Given the description of an element on the screen output the (x, y) to click on. 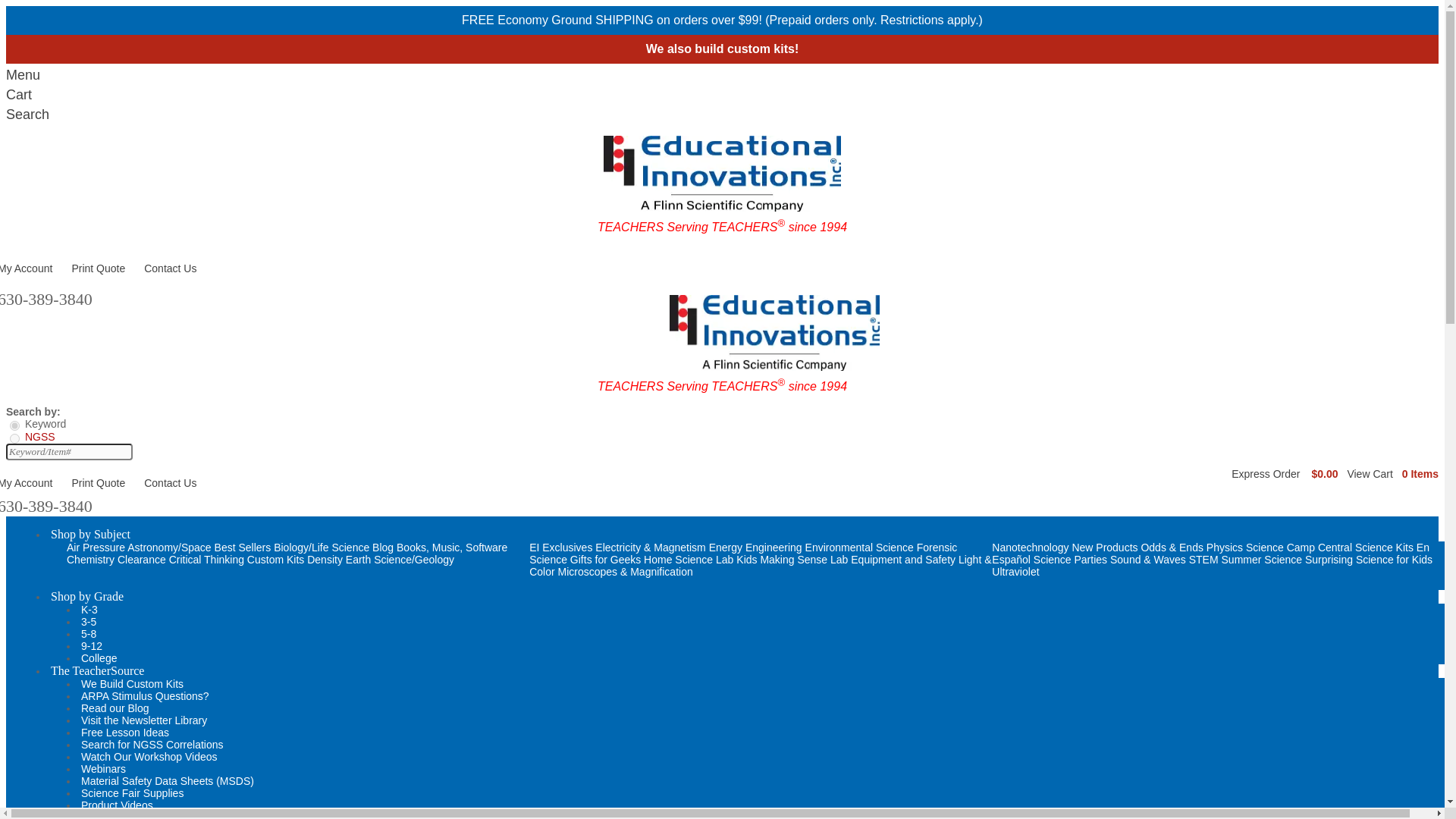
Make an Express Order (1265, 473)
Login To My Account (26, 268)
Educational Innovations, Inc. (722, 207)
Menu (721, 75)
Educational Innovations, Inc. (722, 173)
Keyword (15, 425)
We also build custom kits! (722, 48)
Educational Innovations, Inc. (774, 332)
NGSS (15, 438)
Print A Price Quote (98, 268)
Educational Innovations, Inc. (774, 367)
